Given the description of an element on the screen output the (x, y) to click on. 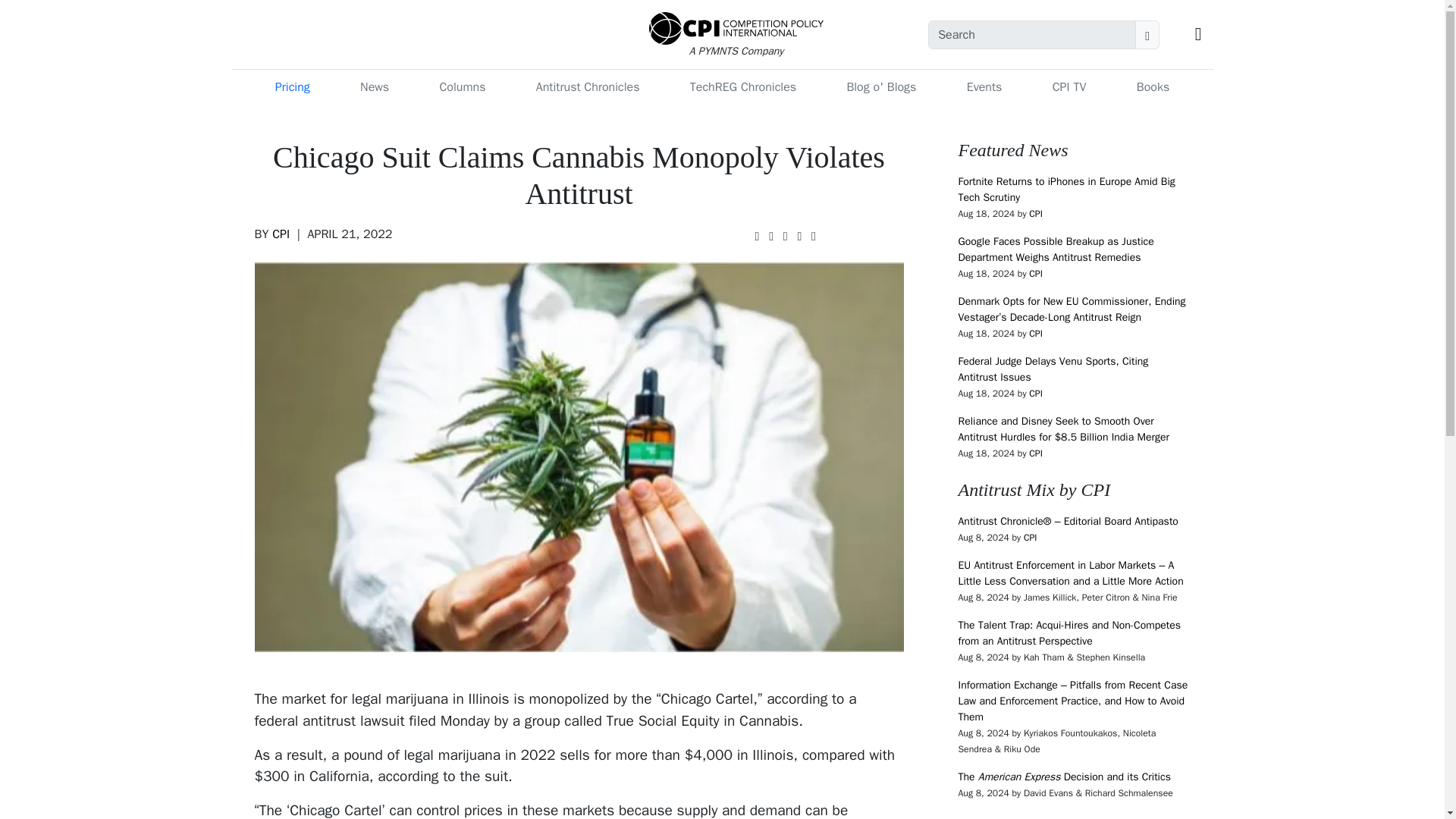
CPI (1035, 214)
CPI (1035, 453)
Blog o' Blogs (880, 87)
Posts by CPI (1035, 333)
Posts by CPI (280, 233)
Posts by CPI (1035, 214)
The American Express Decision and its Critics (1064, 776)
Posts by CPI (1035, 393)
Posts by CPI (1035, 453)
